Given the description of an element on the screen output the (x, y) to click on. 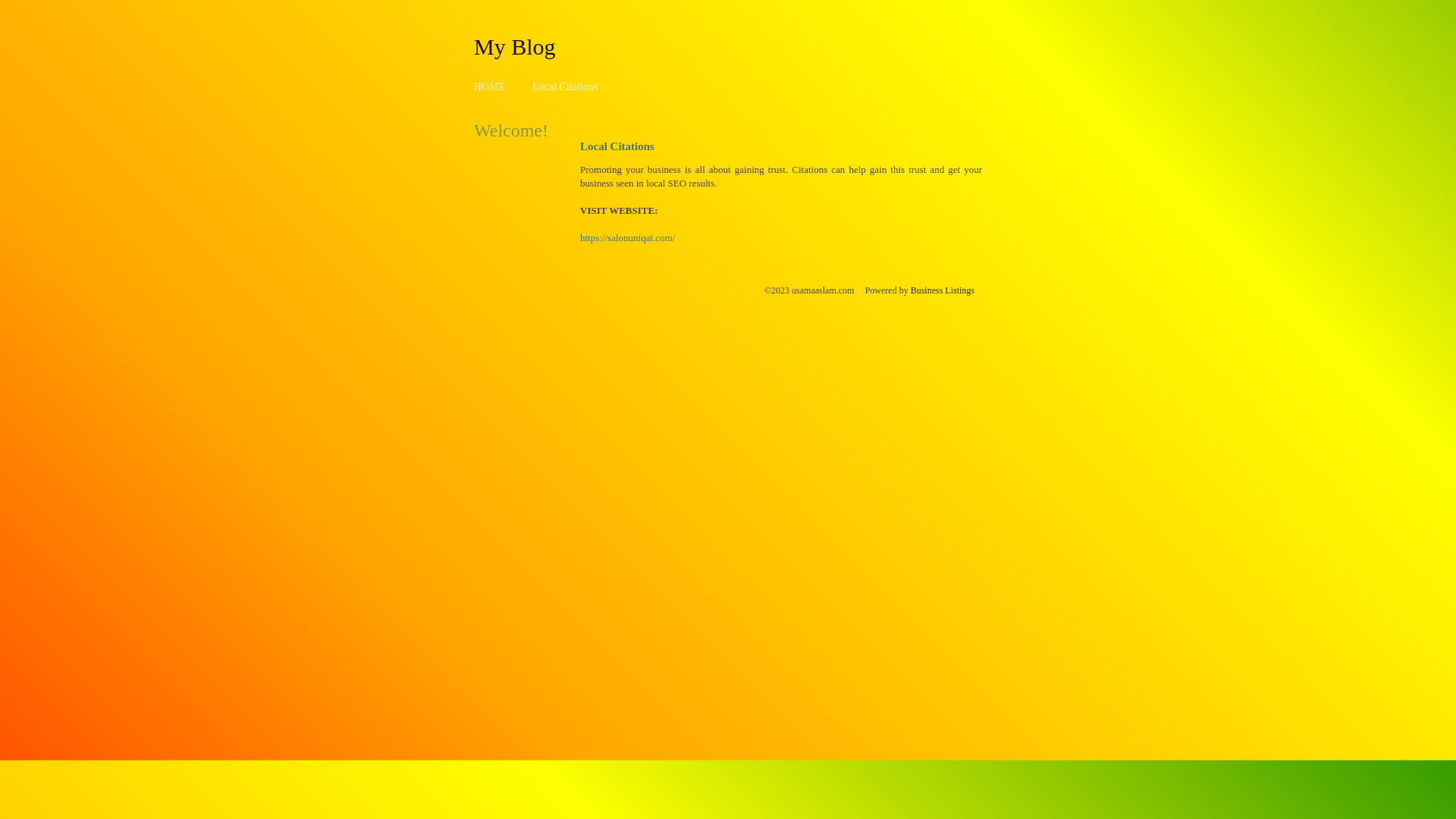
HOME Element type: text (489, 86)
My Blog Element type: text (514, 46)
https://salonuniqat.com/ Element type: text (627, 237)
Business Listings Element type: text (942, 290)
Local Citations Element type: text (564, 86)
